Given the description of an element on the screen output the (x, y) to click on. 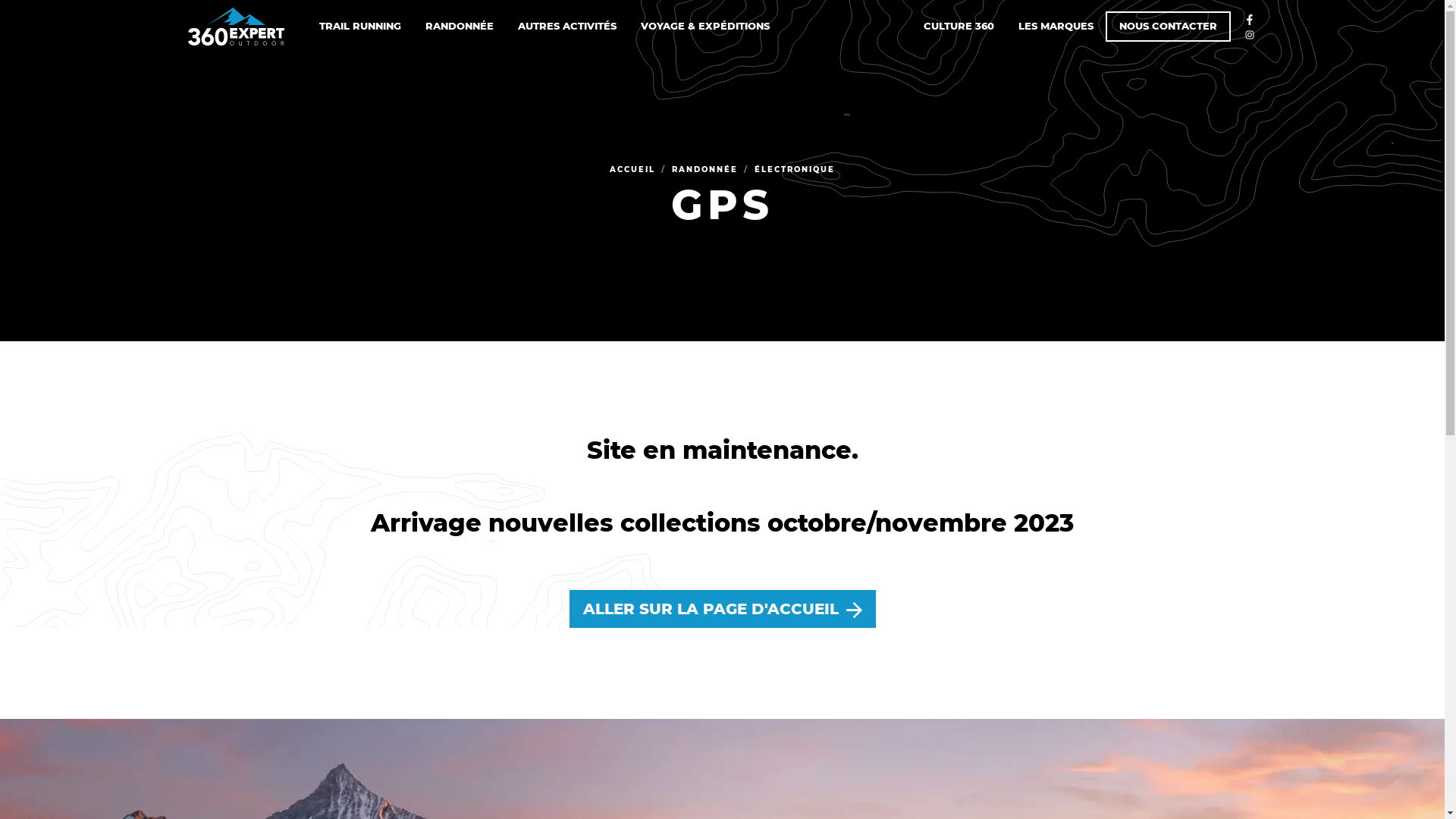
ACCUEIL Element type: text (632, 168)
NOUS CONTACTER Element type: text (1167, 26)
CULTURE 360 Element type: text (958, 26)
Facebook Element type: text (1249, 21)
LES MARQUES Element type: text (1054, 26)
Instagram Element type: text (1249, 36)
ALLER SUR LA PAGE D'ACCUEIL Element type: text (721, 608)
TRAIL RUNNING Element type: text (360, 26)
